Given the description of an element on the screen output the (x, y) to click on. 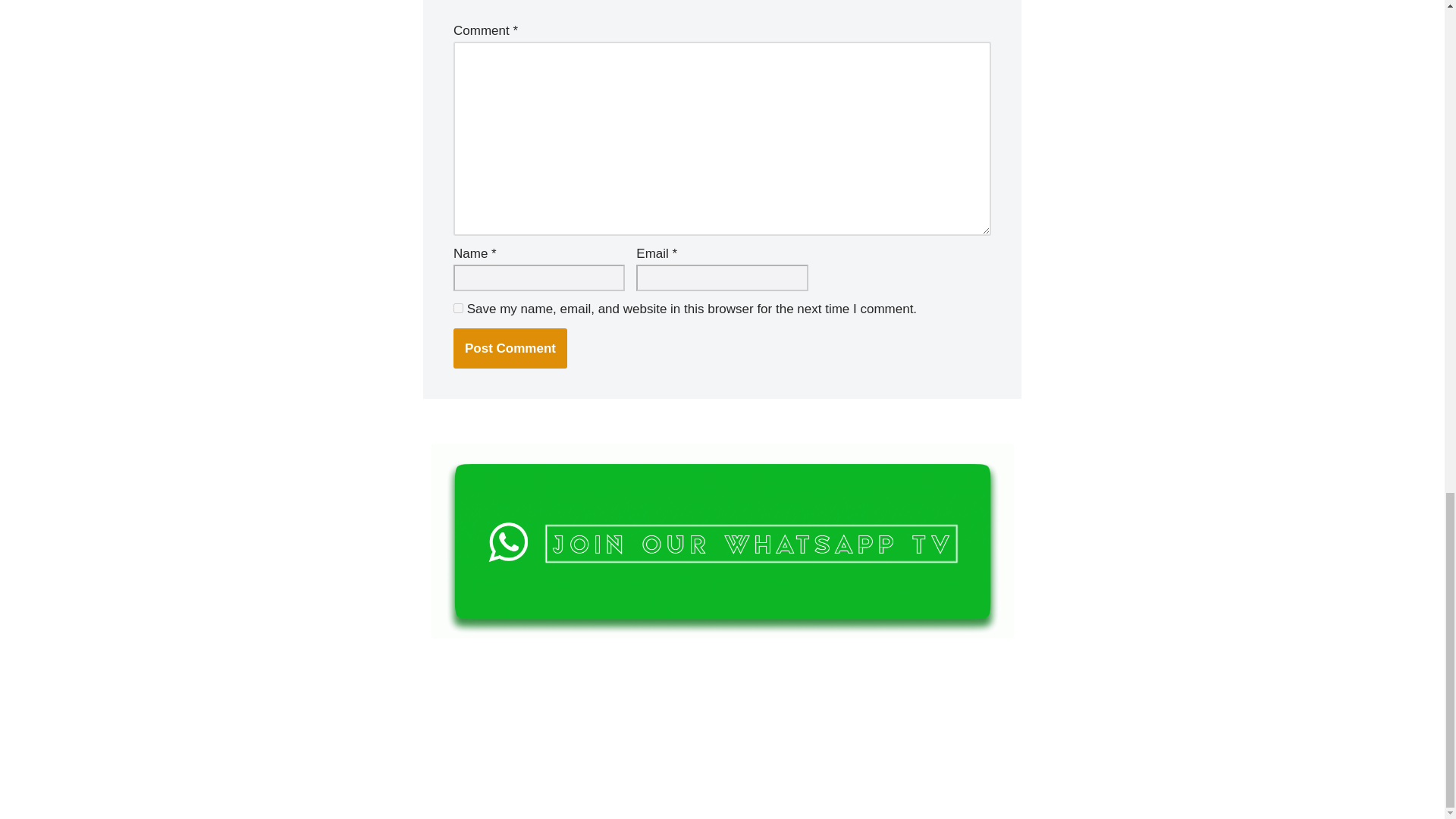
Post Comment (509, 348)
Post Comment (509, 348)
yes (457, 307)
